Given the description of an element on the screen output the (x, y) to click on. 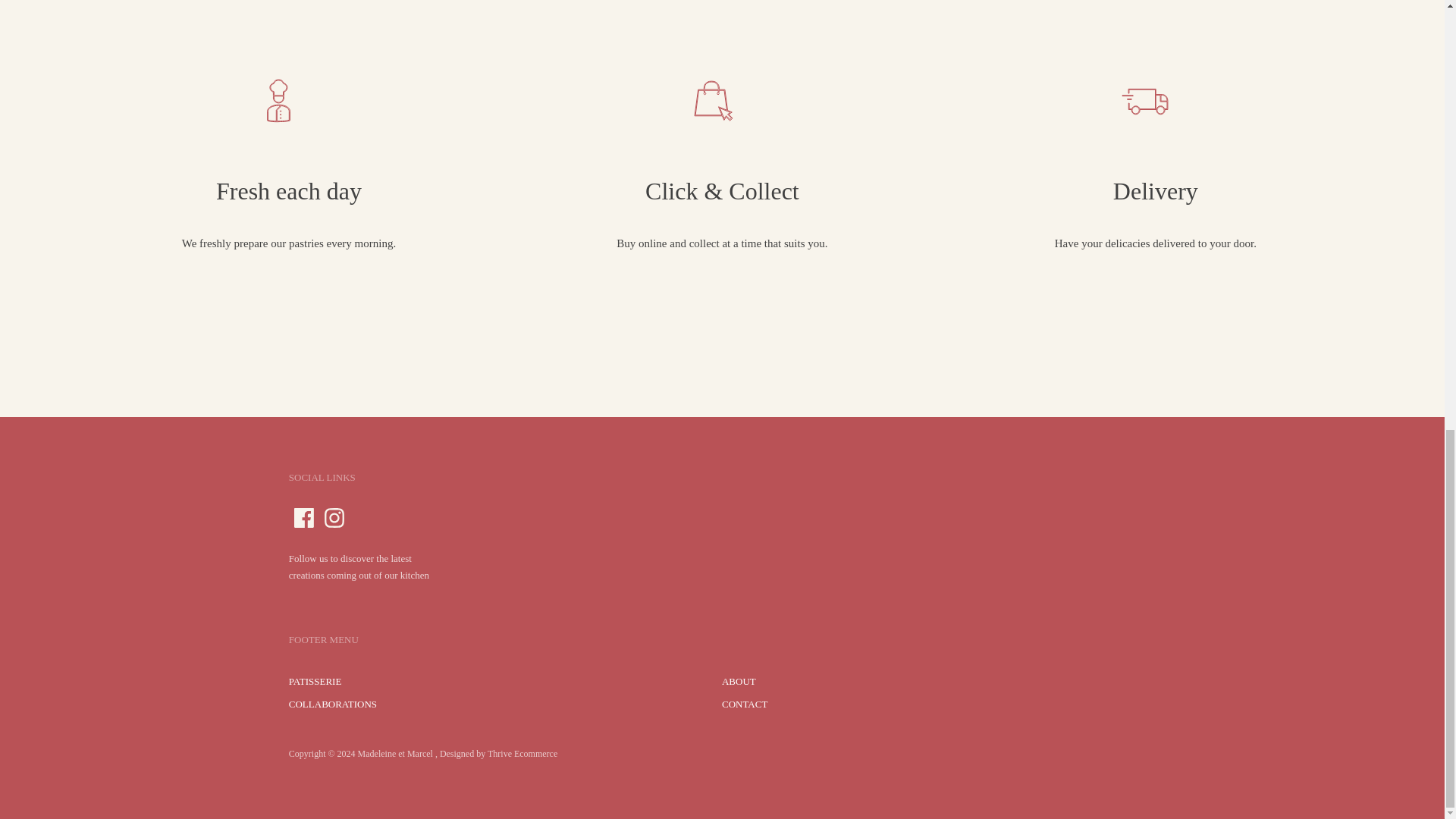
, Designed by Thrive Ecommerce (496, 753)
PATISSERIE (315, 681)
ABOUT (738, 681)
Madeleine et Marcel (395, 753)
CONTACT (744, 704)
COLLABORATIONS (332, 704)
